Given the description of an element on the screen output the (x, y) to click on. 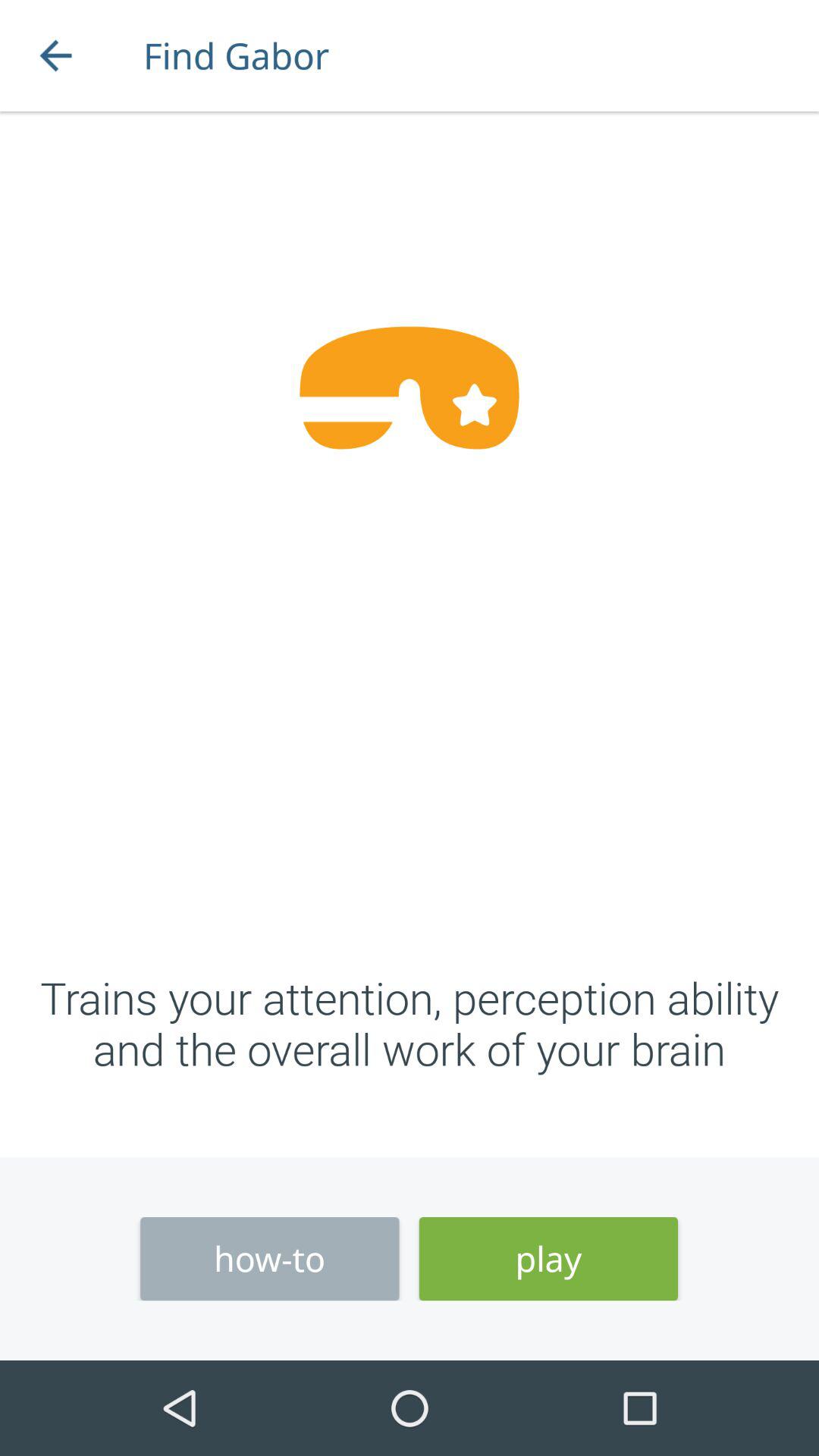
open icon next to the how-to icon (548, 1258)
